Given the description of an element on the screen output the (x, y) to click on. 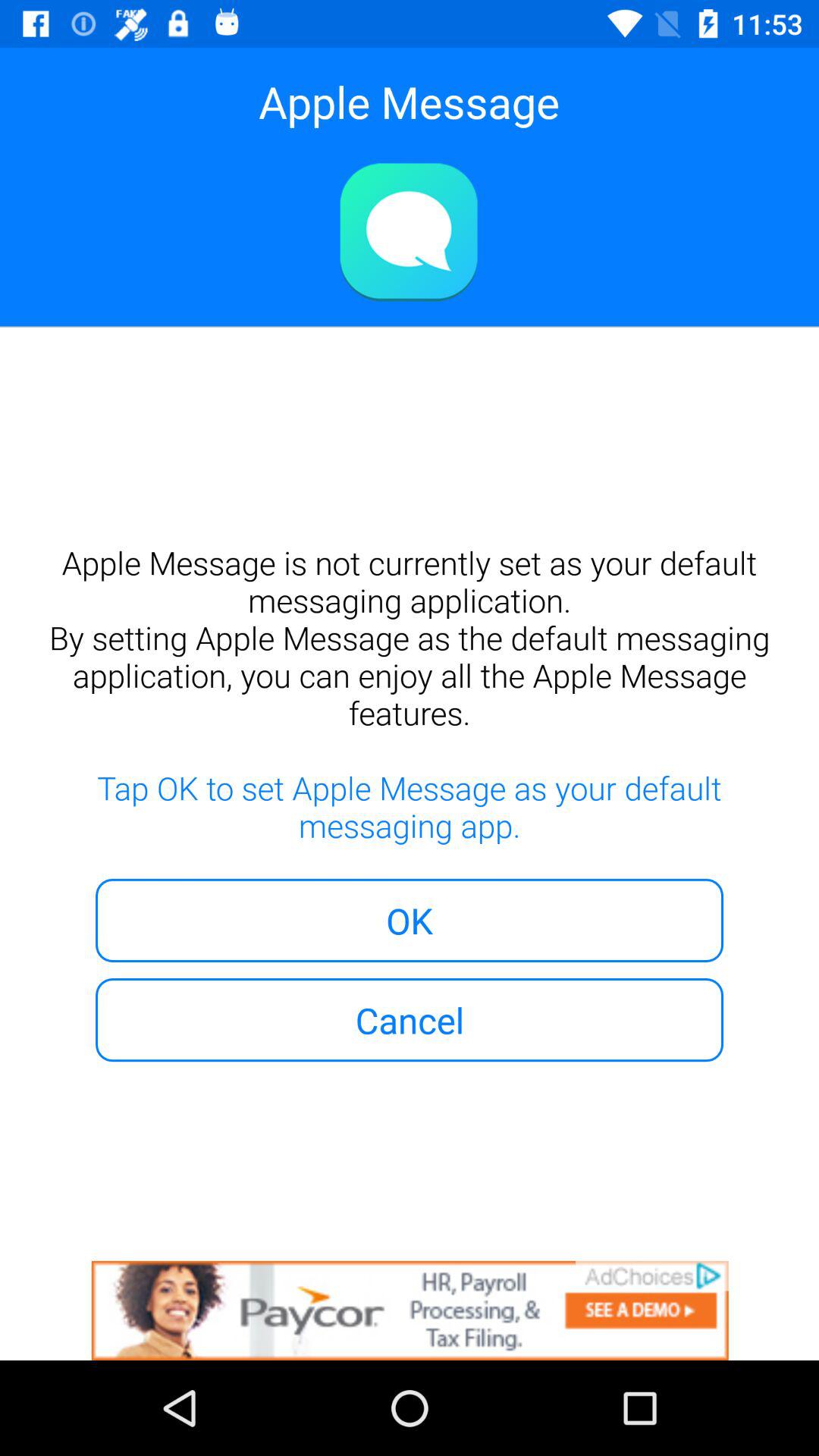
go to advertisement (409, 1310)
